Given the description of an element on the screen output the (x, y) to click on. 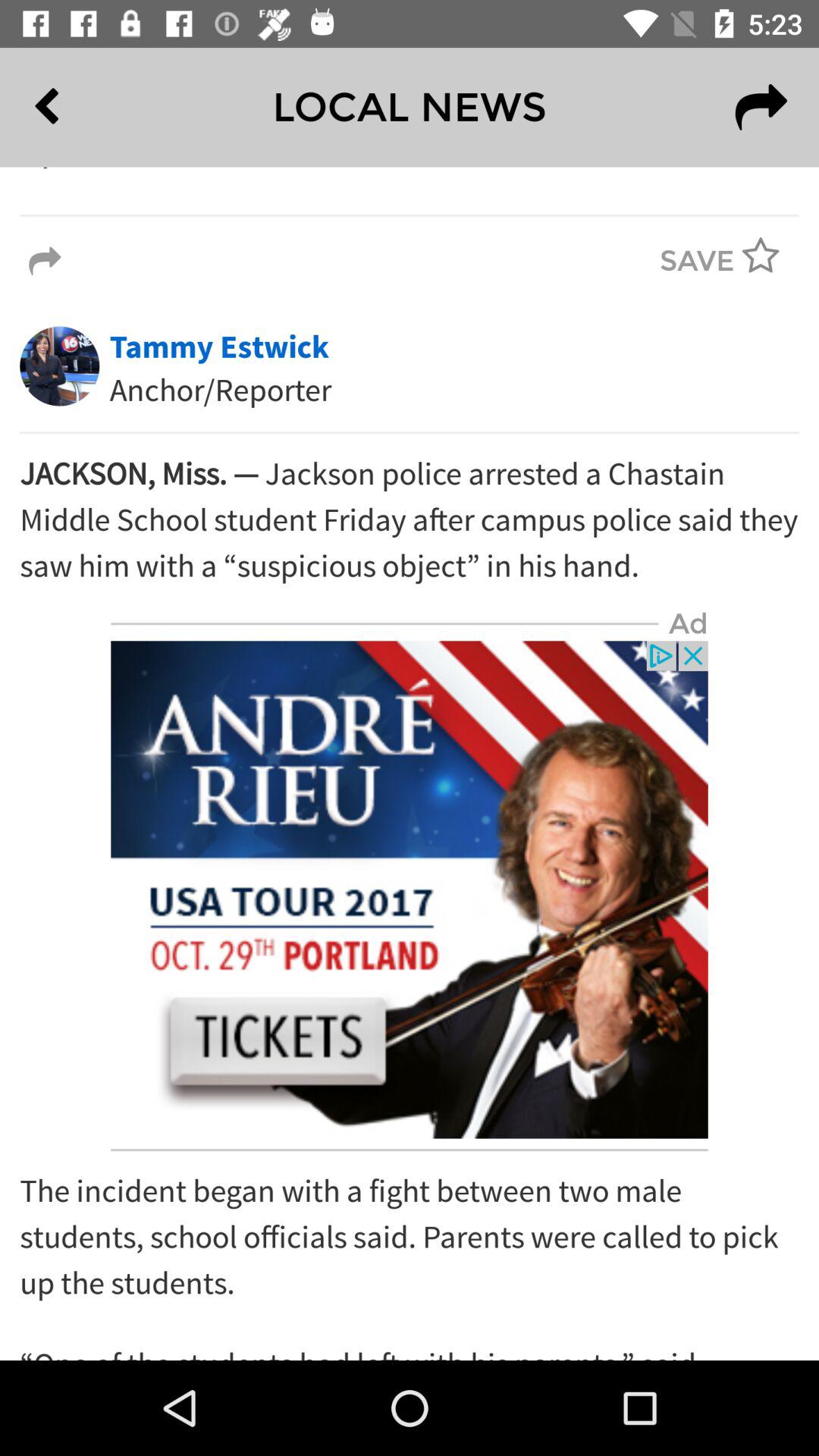
go to advertisement (409, 889)
